Given the description of an element on the screen output the (x, y) to click on. 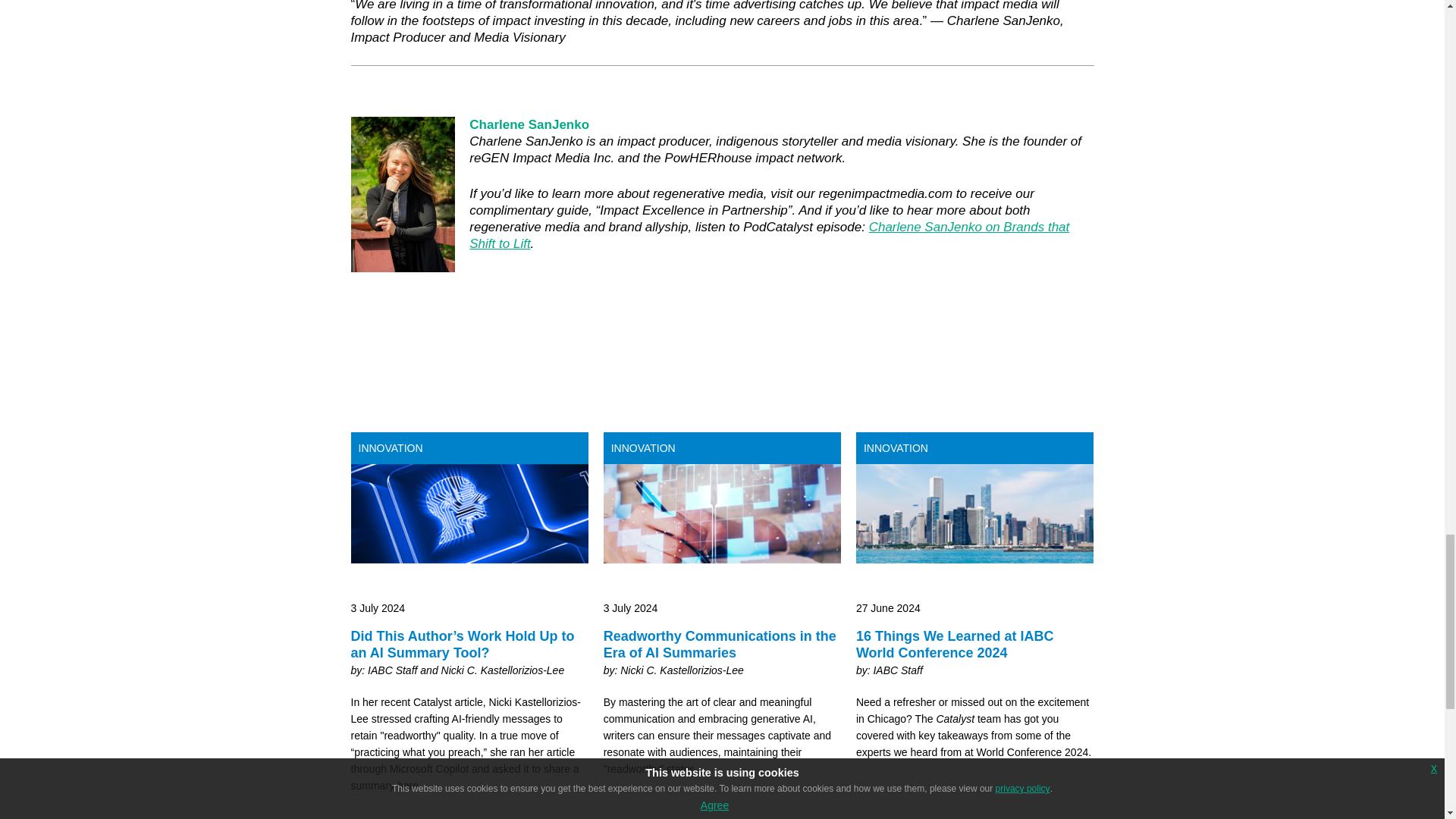
Readworthy Communications in the Era of AI Summaries (722, 638)
16 Things We Learned at IABC World Conference 2024 (975, 638)
Charlene SanJenko on Brands that Shift to Lift (768, 235)
